Given the description of an element on the screen output the (x, y) to click on. 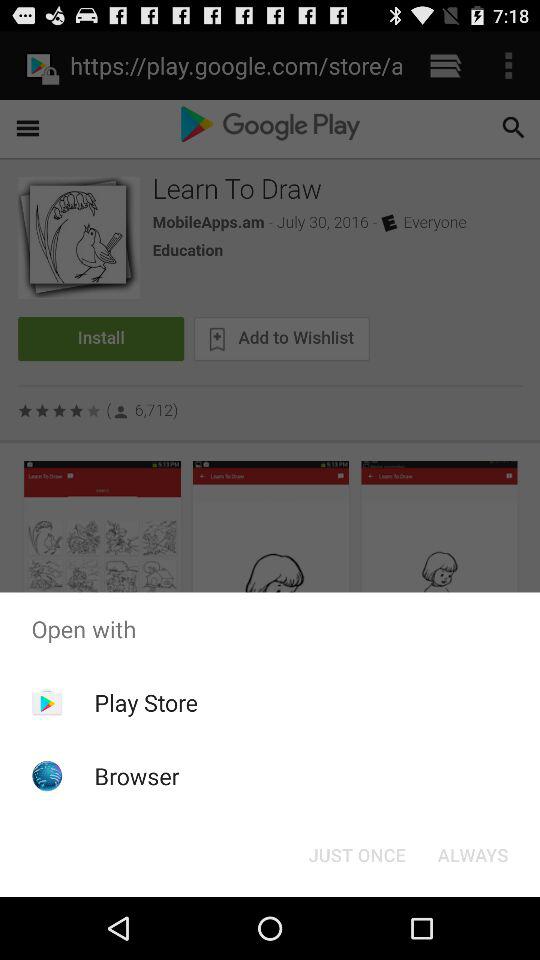
turn on play store icon (146, 702)
